Given the description of an element on the screen output the (x, y) to click on. 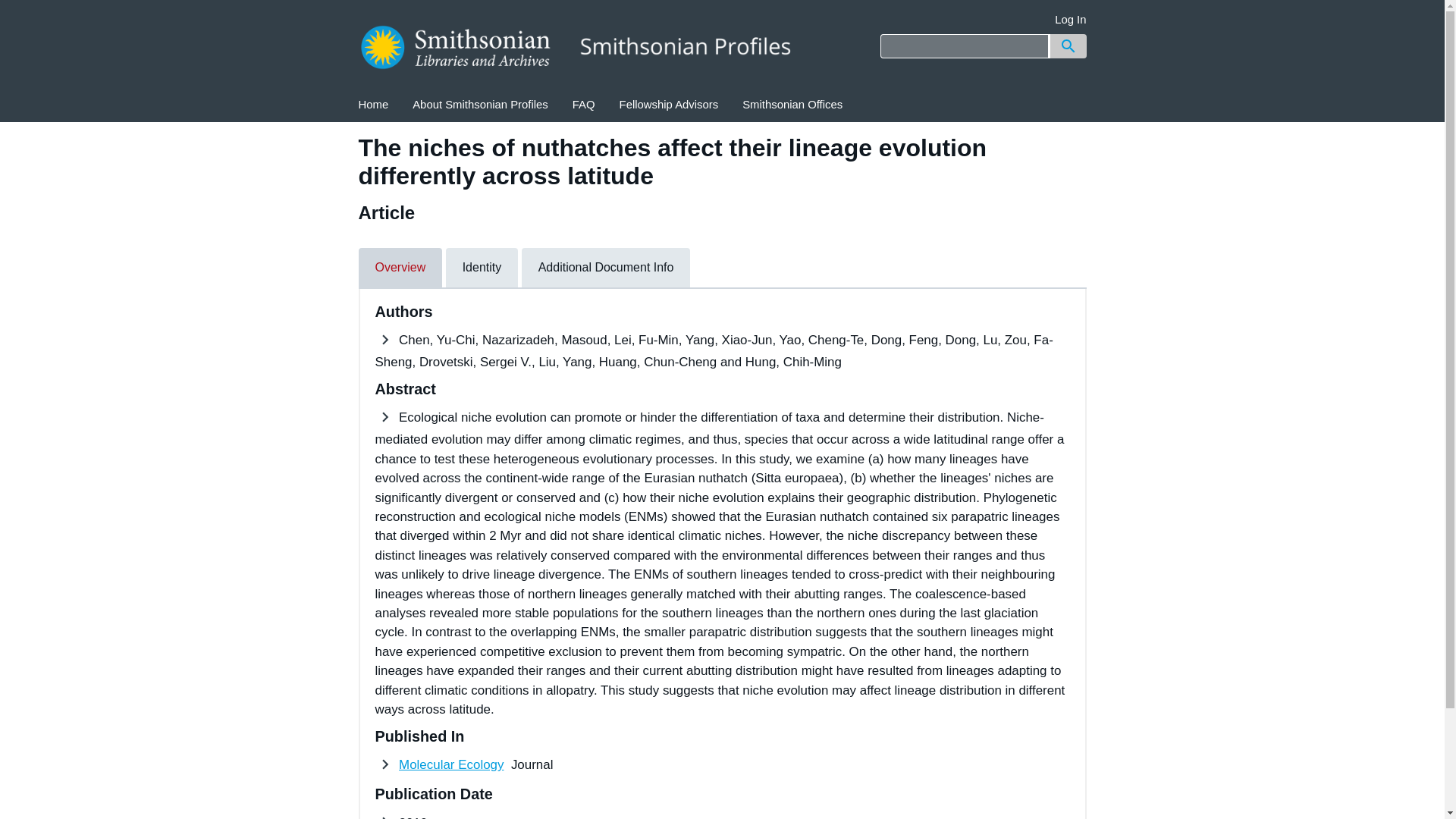
Log In (1070, 20)
About Smithsonian Profiles (480, 104)
Fellowship Advisors menu item (668, 104)
Smithsonian Offices menu item (792, 104)
Log In (1070, 20)
Home menu item (373, 104)
FAQ menu item (583, 104)
name (450, 764)
About Smithsonian Profiles menu item (480, 104)
Home (373, 104)
